Given the description of an element on the screen output the (x, y) to click on. 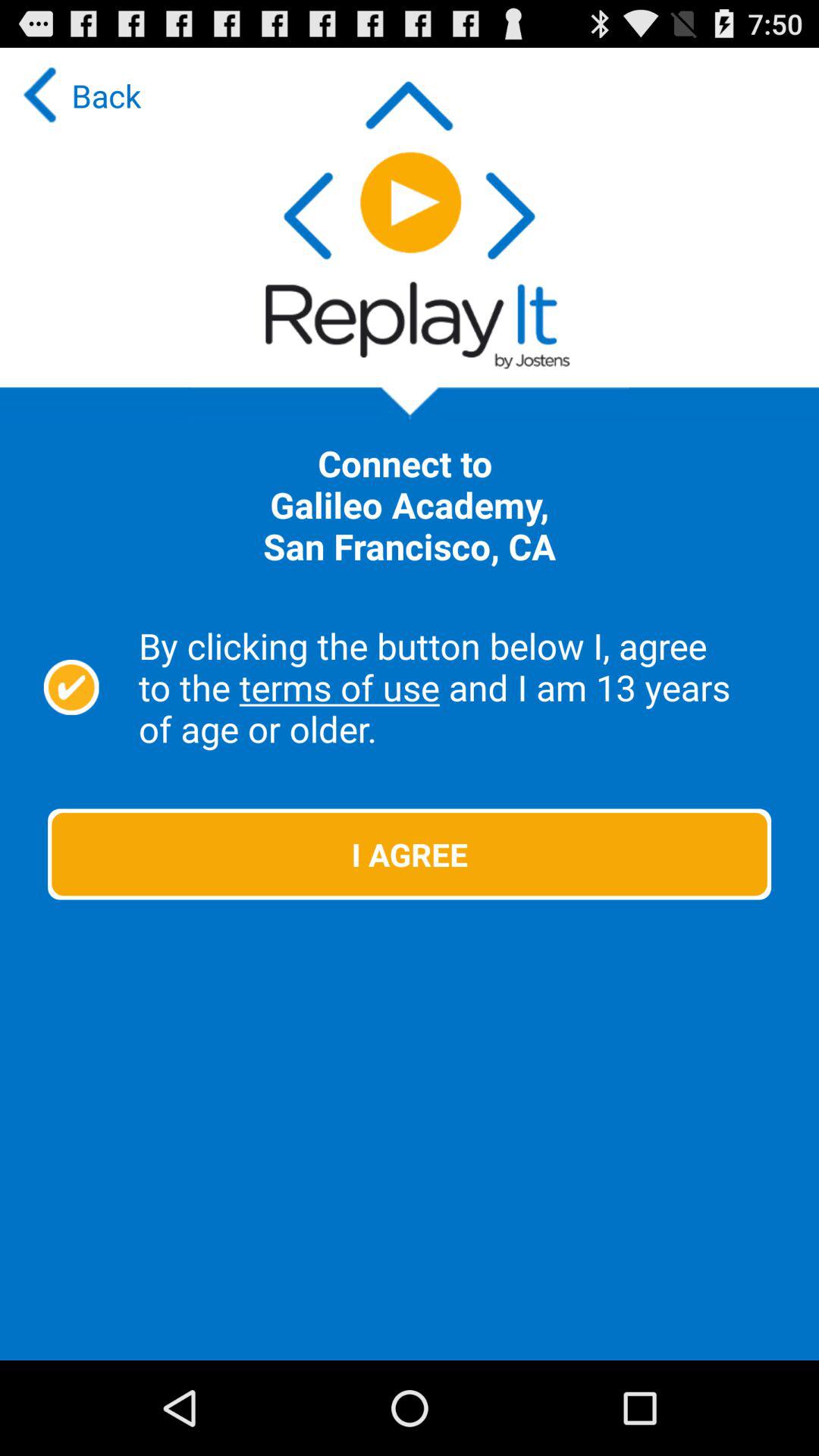
open the app below connect to galileo app (460, 687)
